Given the description of an element on the screen output the (x, y) to click on. 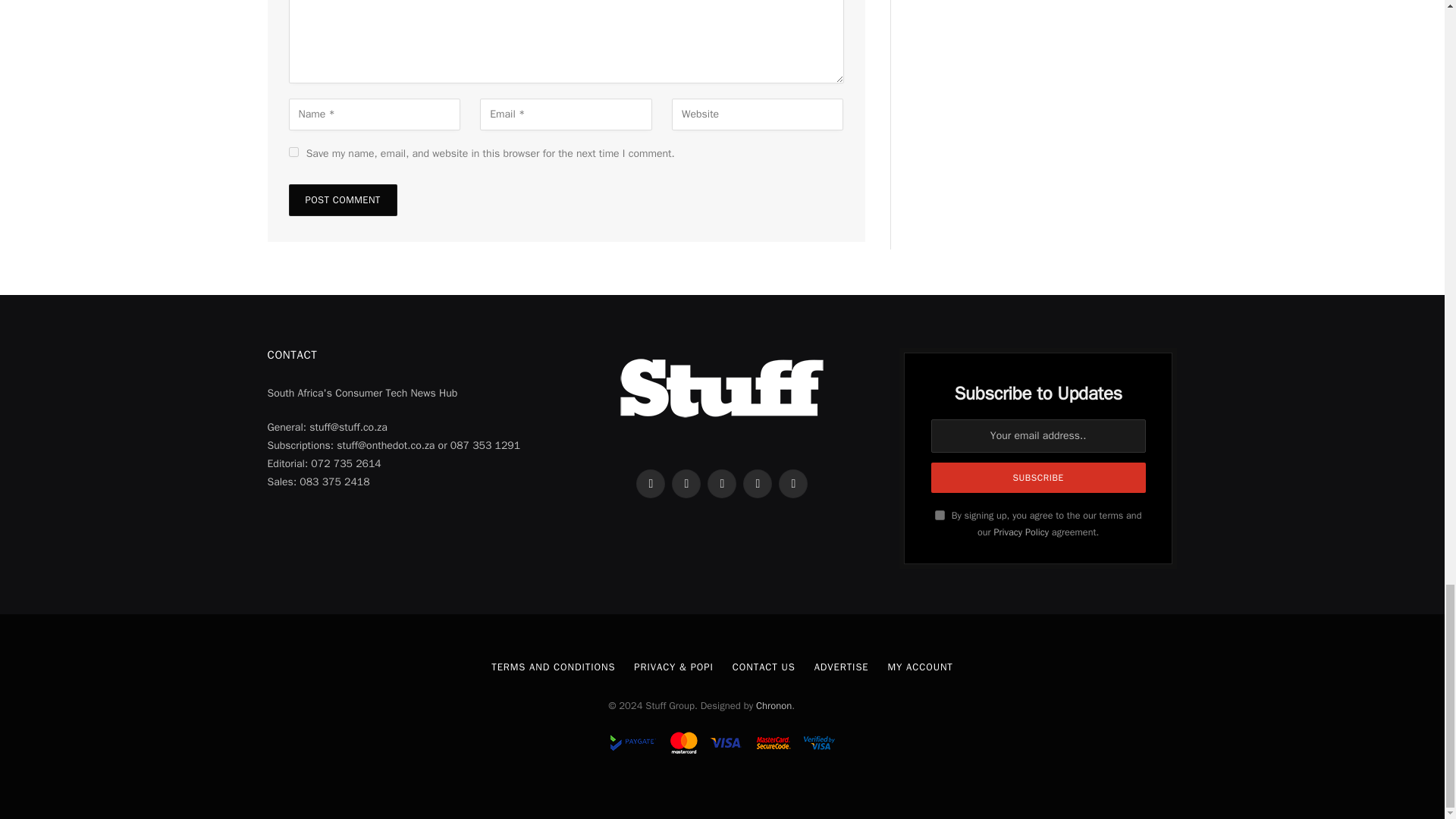
Post Comment (342, 200)
on (939, 515)
yes (293, 152)
Subscribe (1038, 477)
